Given the description of an element on the screen output the (x, y) to click on. 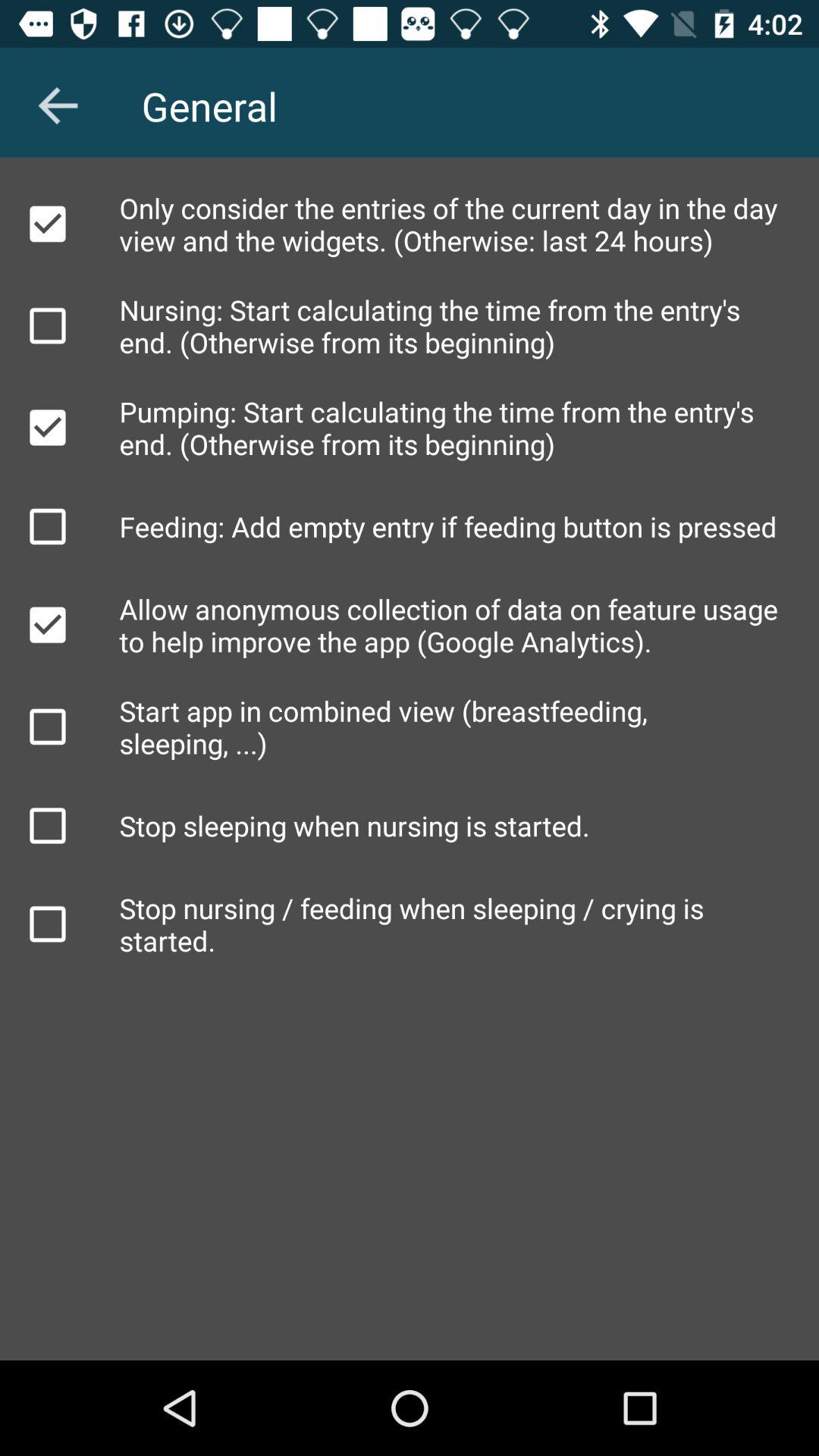
stop sleeping when nursing is started (47, 825)
